Given the description of an element on the screen output the (x, y) to click on. 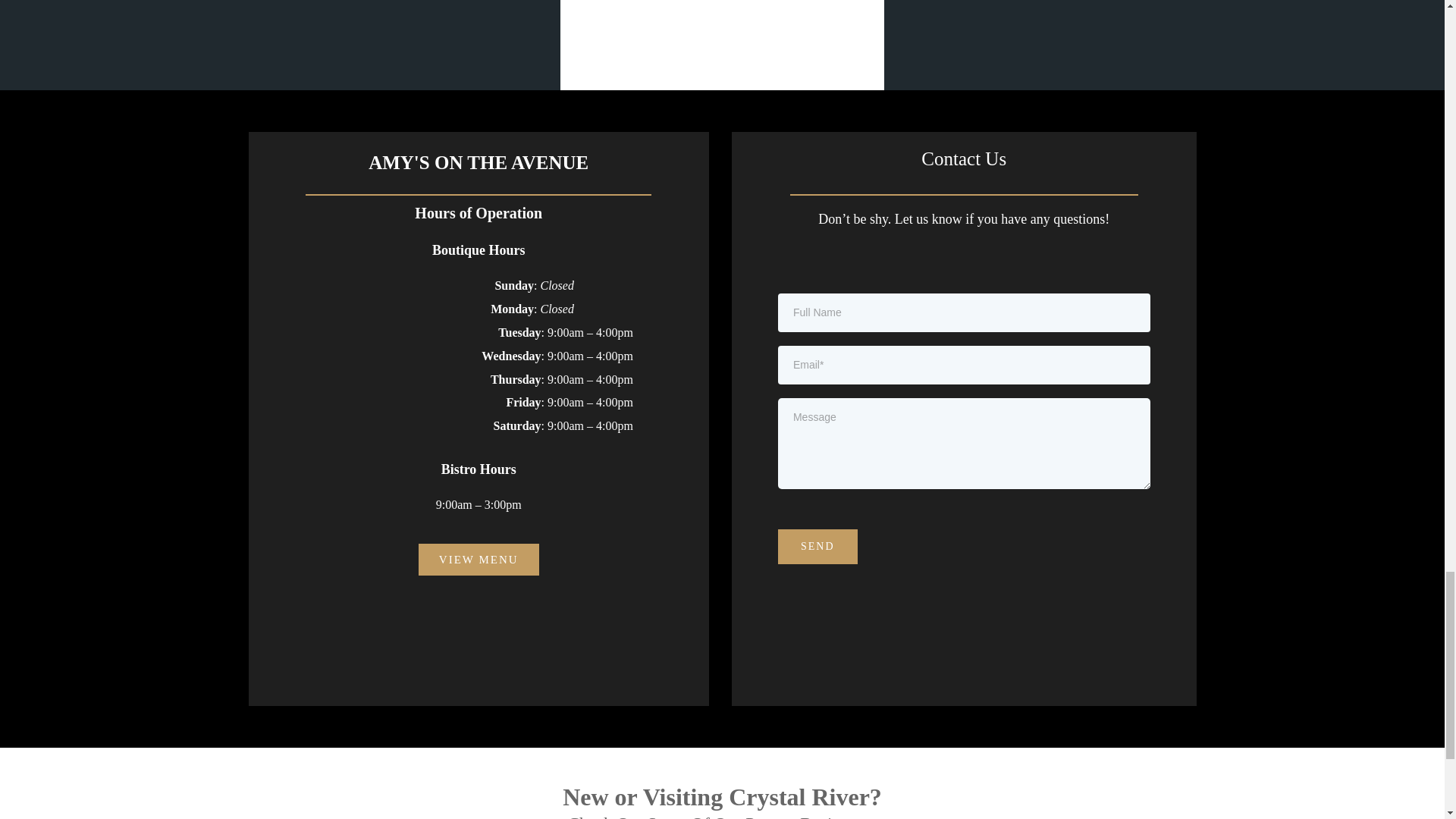
VIEW MENU (478, 559)
SEND (817, 546)
